Given the description of an element on the screen output the (x, y) to click on. 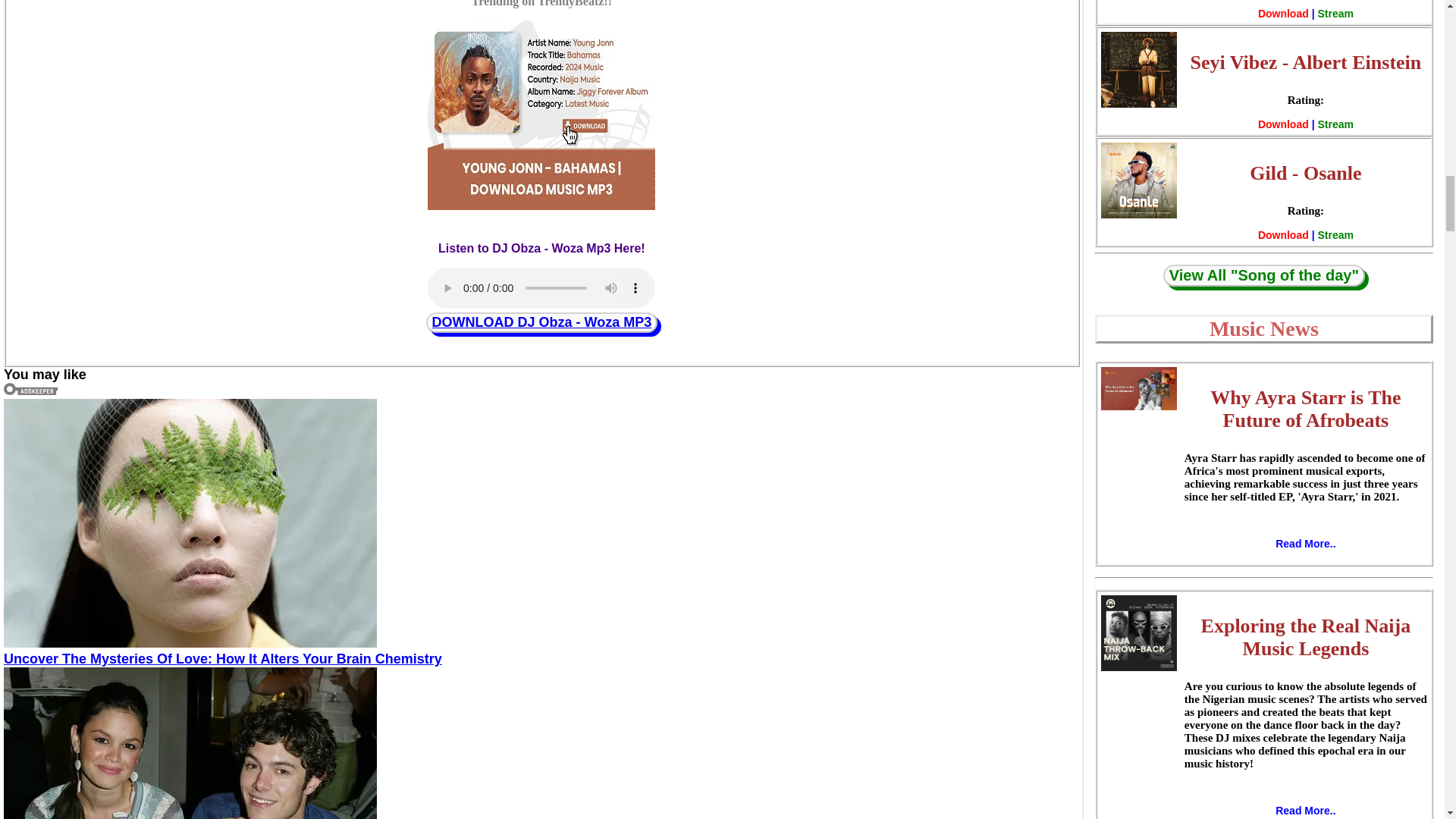
DOWNLOAD DJ Obza - Woza MP3 (542, 322)
DOWNLOAD DJ Obza - Woza MP3 (542, 322)
